Given the description of an element on the screen output the (x, y) to click on. 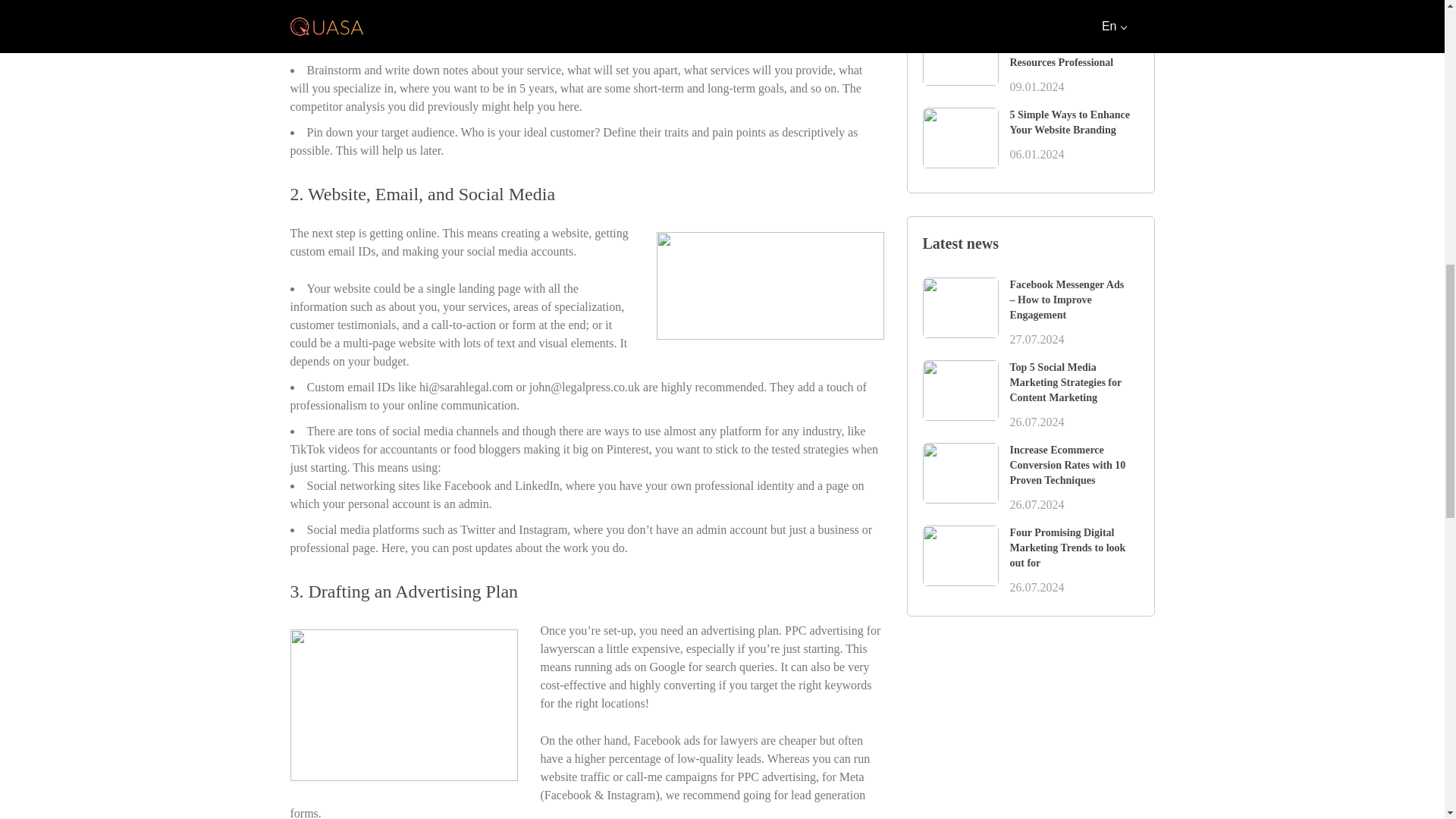
Branding for the Independent Human Resources Professional (1070, 47)
Four Promising Digital Marketing Trends to look out for (1070, 547)
5 Simple Ways to Enhance Your Website Branding (1070, 122)
